Given the description of an element on the screen output the (x, y) to click on. 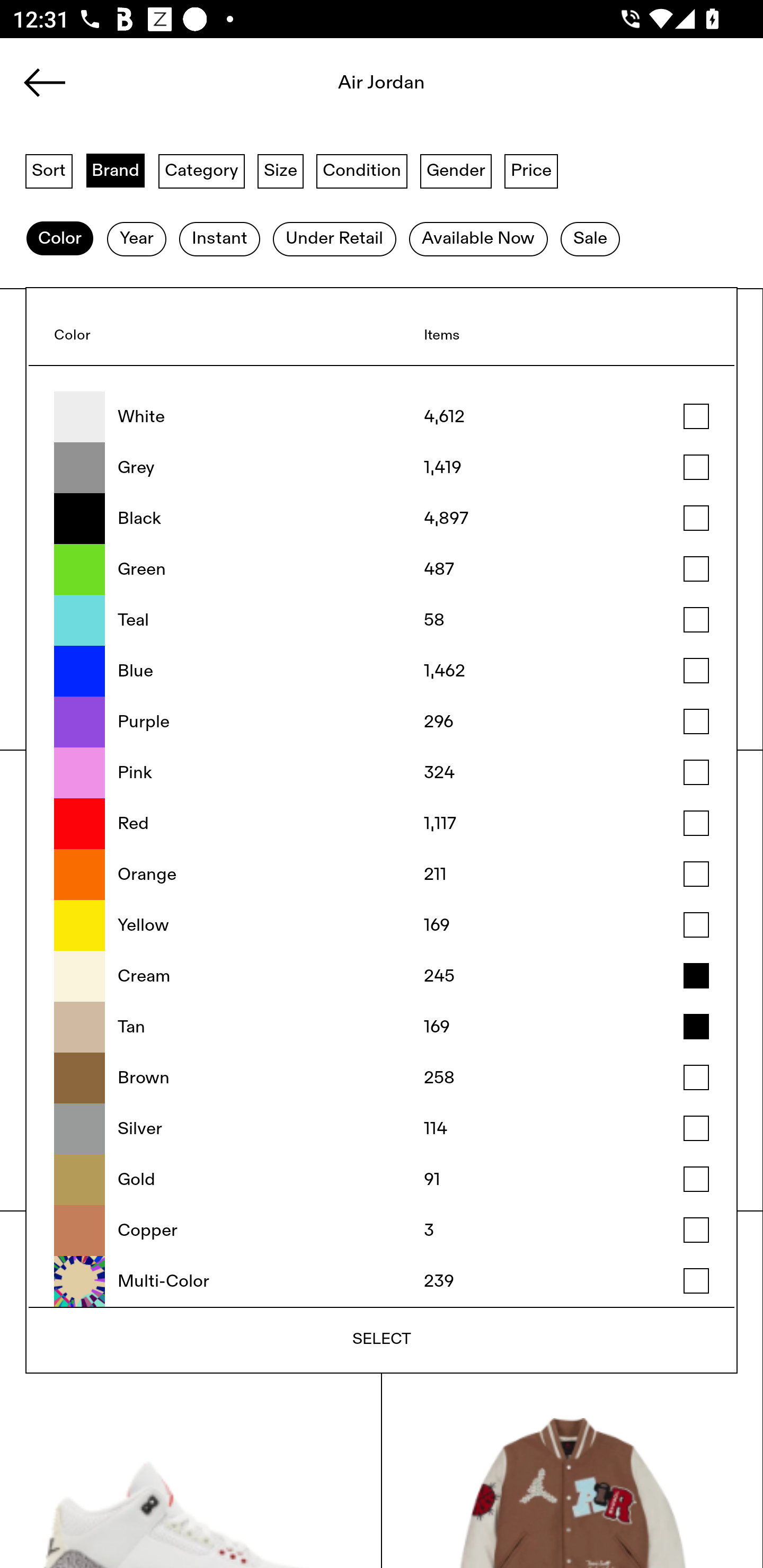
Sort (48, 170)
Brand (115, 170)
Category (201, 170)
Size (280, 170)
Condition (361, 170)
Gender (455, 170)
Price (530, 170)
Color (59, 239)
Year (136, 239)
Instant (219, 239)
Under Retail (334, 239)
Available Now (477, 239)
Sale (589, 239)
White 4,612 (381, 417)
Grey 1,419 (381, 467)
Black 4,897 (381, 518)
Green 487 (381, 569)
Teal 58 (381, 620)
Blue 1,462 (381, 671)
Purple 296 (381, 721)
Pink 324 (381, 772)
Red 1,117 (381, 823)
Orange 211 (381, 874)
Yellow 169 (381, 925)
Cream 245 (381, 975)
Tan 169 (381, 1026)
Brown 258 (381, 1077)
Silver 114 (381, 1128)
Gold 91 (381, 1179)
Copper 3 (381, 1230)
Multi-Color 239 (381, 1280)
SELECT (381, 1338)
